Given the description of an element on the screen output the (x, y) to click on. 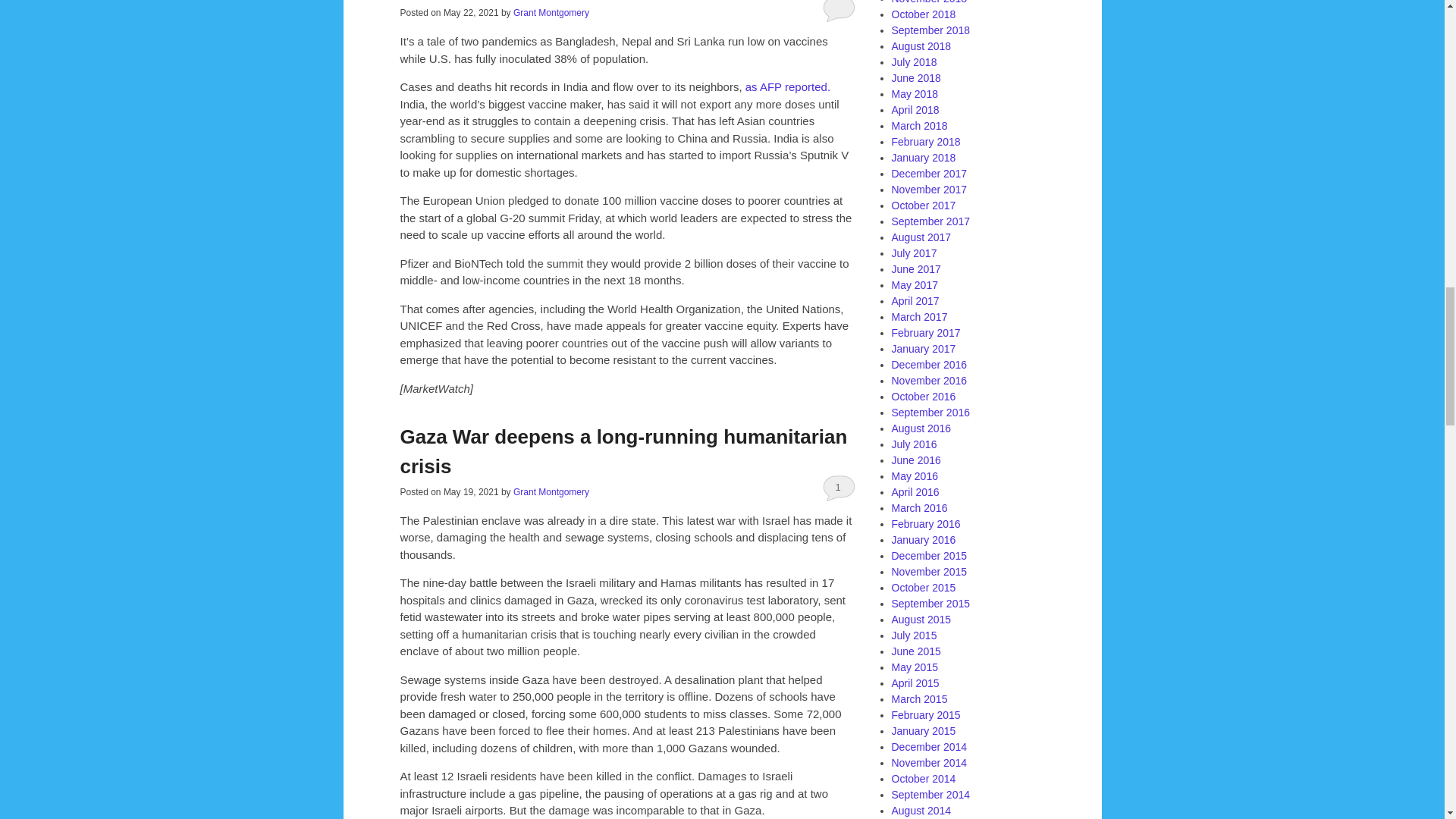
Grant Montgomery (551, 491)
1 (831, 487)
Posts by Grant Montgomery (551, 491)
Posts by Grant Montgomery (551, 12)
as AFP reported. (787, 86)
Gaza War deepens a long-running humanitarian crisis (623, 451)
Grant Montgomery (551, 12)
Gaza War deepens a long-running humanitarian crisis (623, 451)
